Given the description of an element on the screen output the (x, y) to click on. 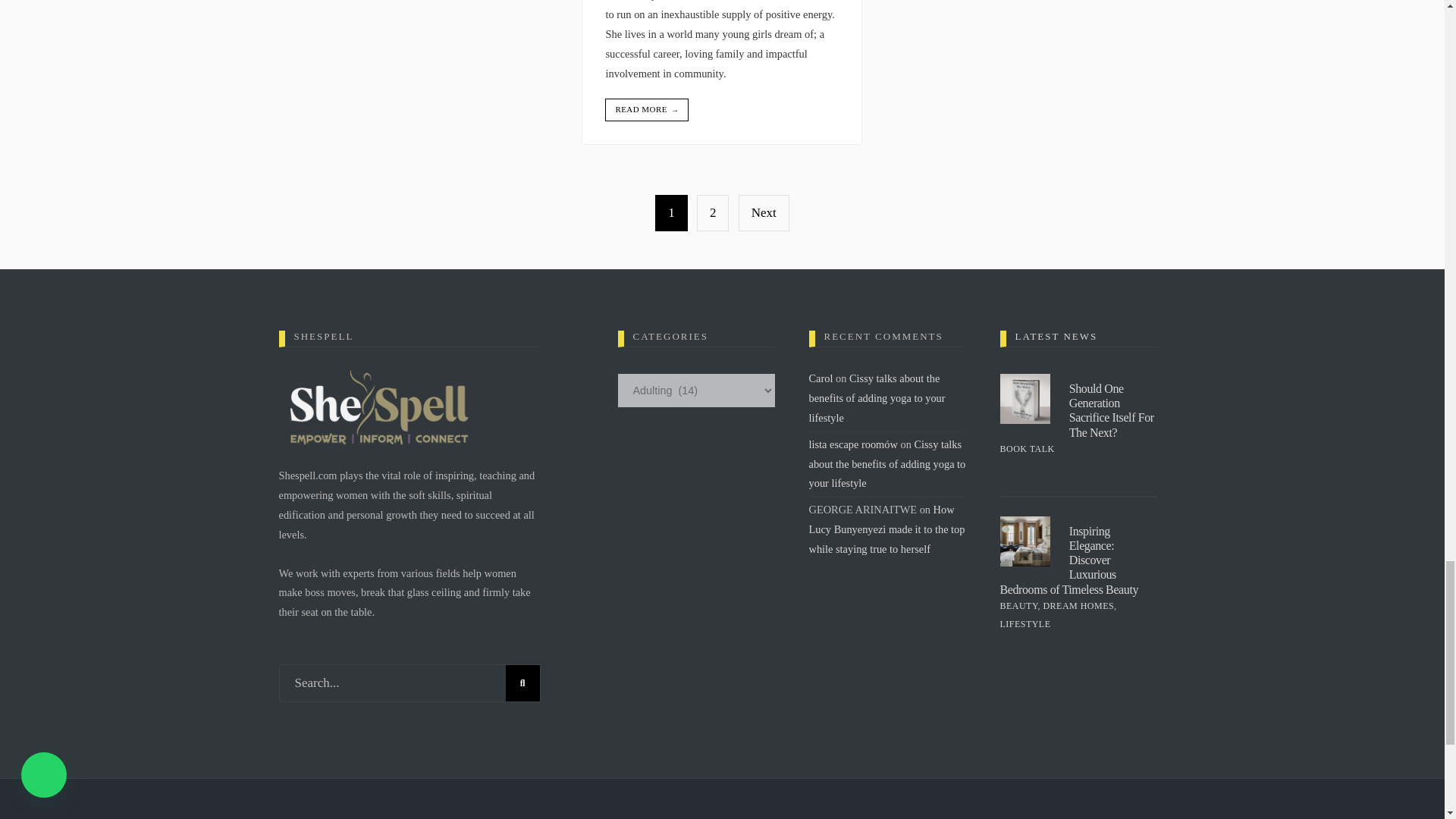
Search... (409, 682)
Should One Generation Sacrifice Itself For The Next? (1111, 410)
Should One Generation Sacrifice Itself For The Next? (1023, 398)
